Given the description of an element on the screen output the (x, y) to click on. 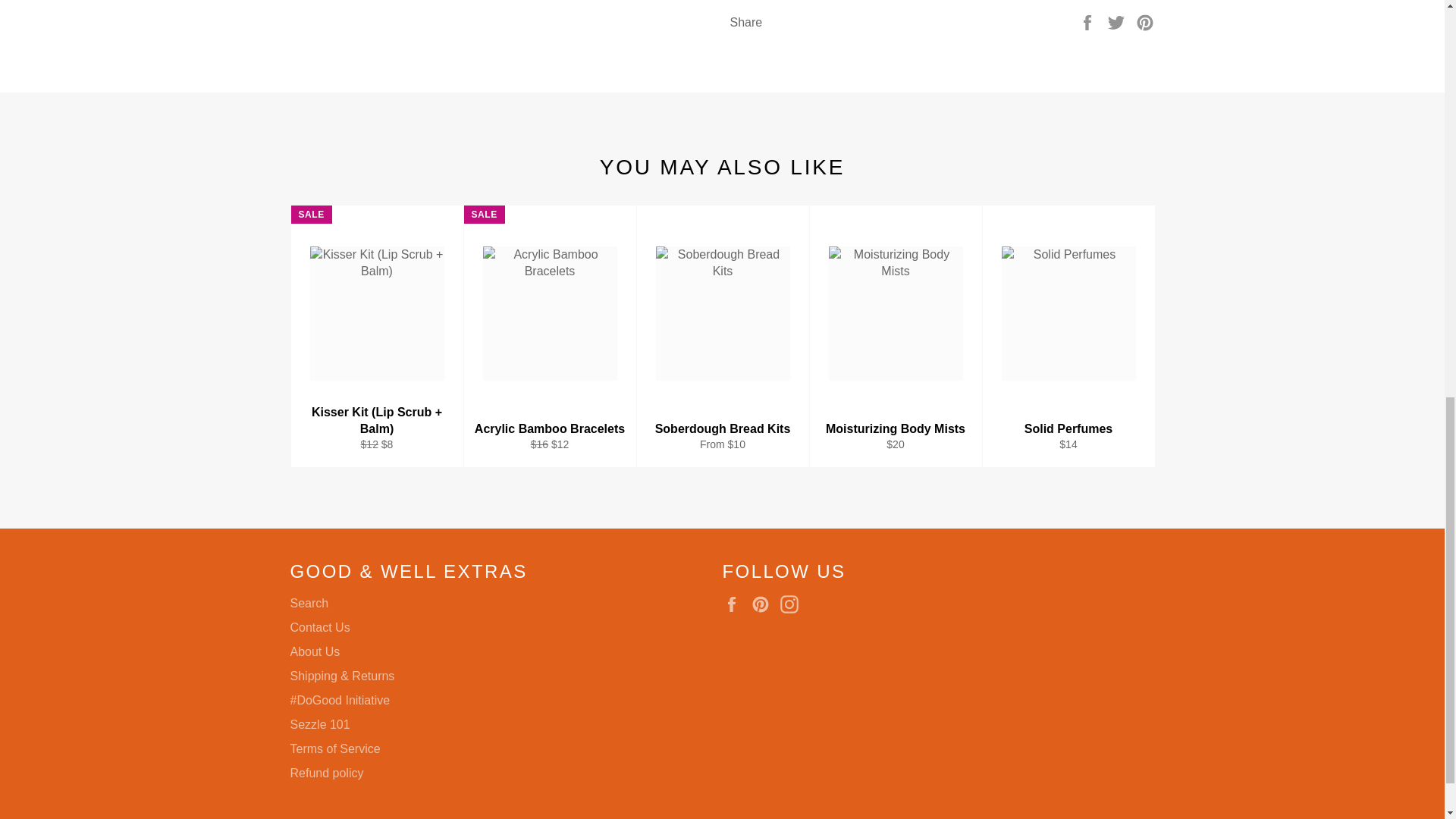
Pin on Pinterest (1144, 21)
Share on Facebook (1088, 21)
Tweet on Twitter (1117, 21)
